Given the description of an element on the screen output the (x, y) to click on. 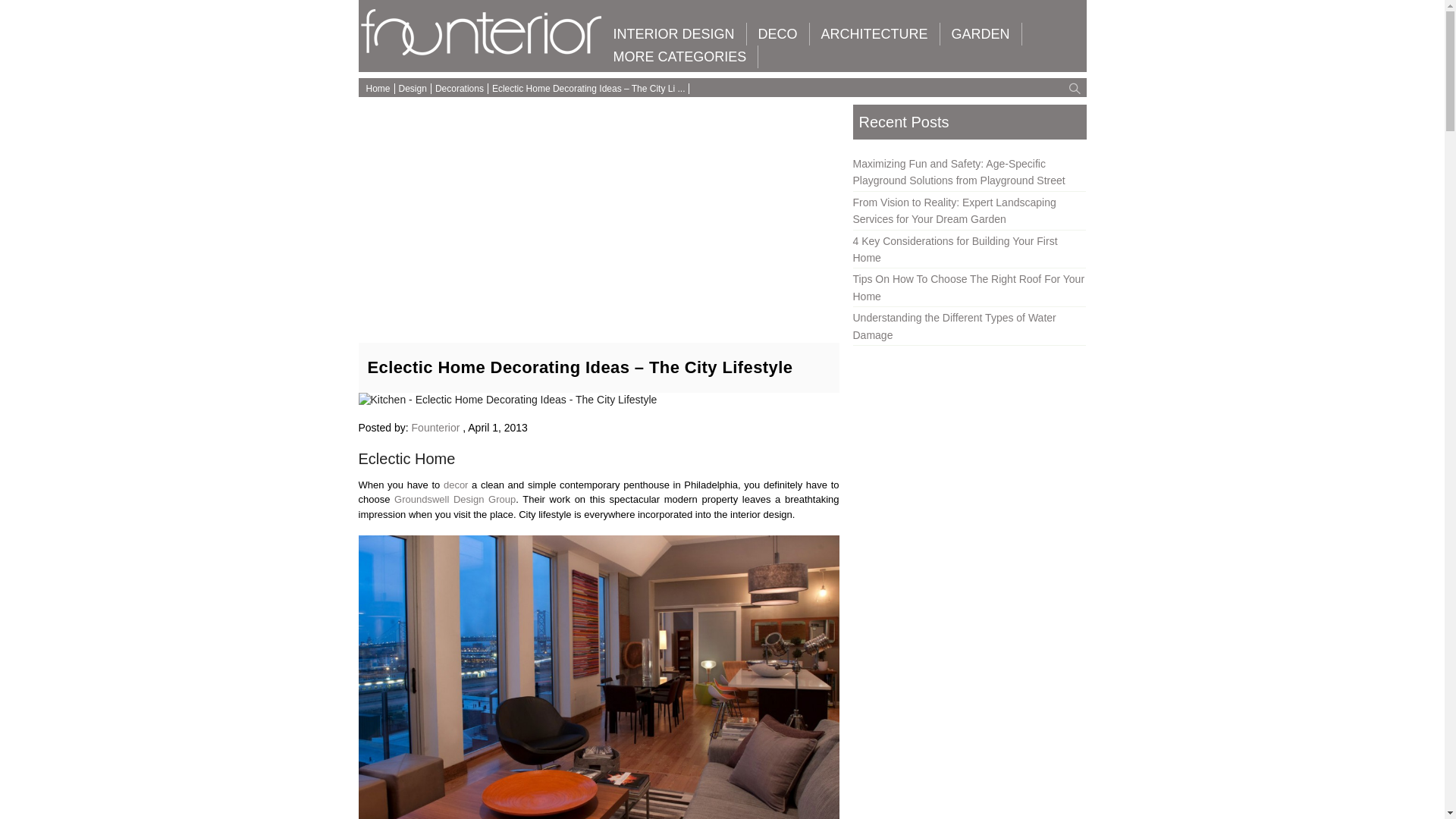
MORE CATEGORIES (680, 56)
GARDEN (981, 33)
Advertisement (598, 213)
ARCHITECTURE (874, 33)
DECO (777, 33)
Founterior (481, 51)
 Interior Design (673, 33)
INTERIOR DESIGN (673, 33)
Architecture (874, 33)
